Given the description of an element on the screen output the (x, y) to click on. 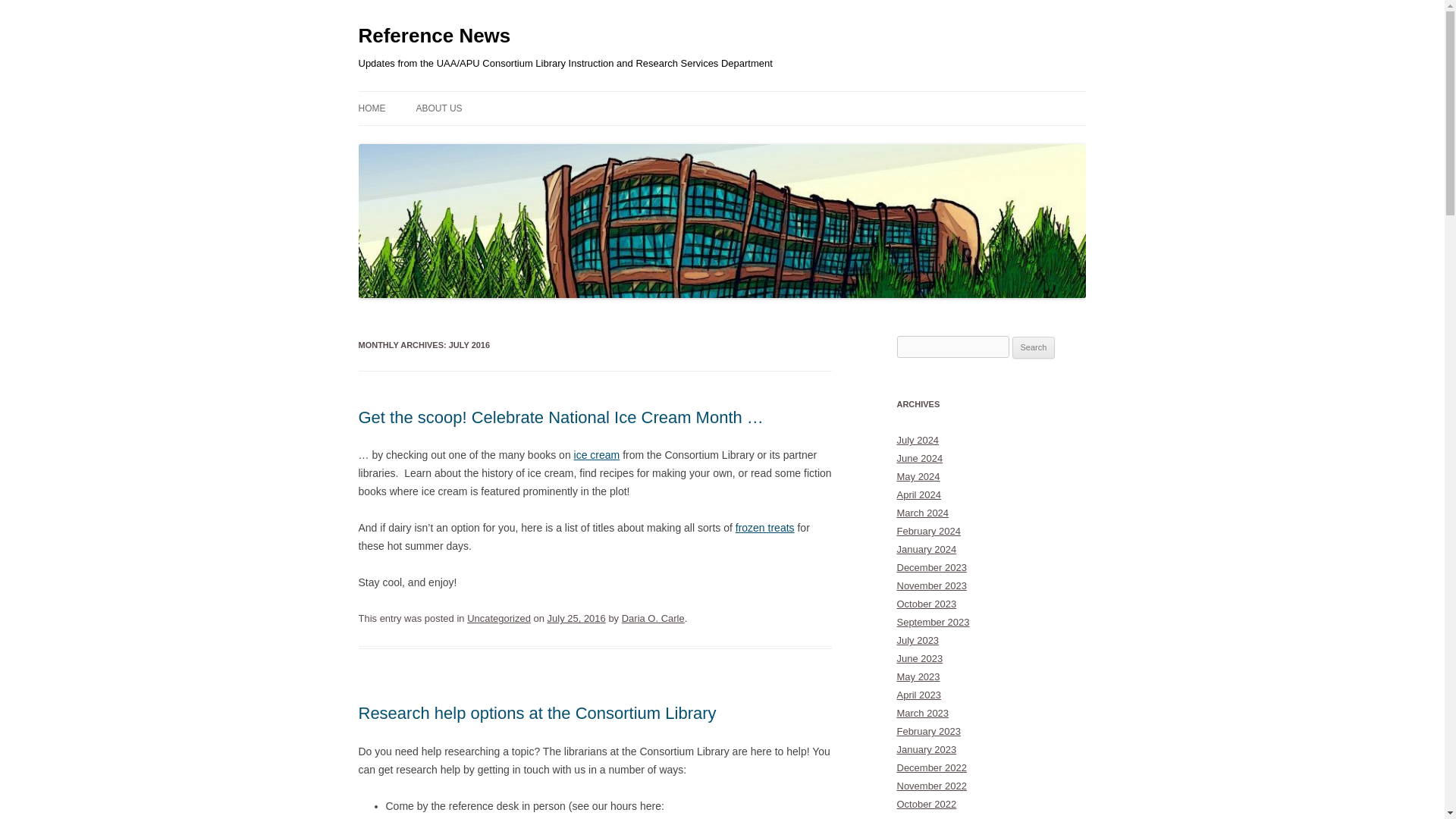
March 2024 (922, 512)
HOME (371, 108)
December 2023 (931, 567)
October 2023 (926, 603)
January 2024 (926, 549)
Search (1033, 347)
July 25, 2016 (576, 618)
View all posts by Daria O. Carle (652, 618)
Uncategorized (499, 618)
September 2023 (932, 622)
February 2024 (927, 531)
June 2023 (919, 658)
Daria O. Carle (652, 618)
ice cream (596, 454)
